Given the description of an element on the screen output the (x, y) to click on. 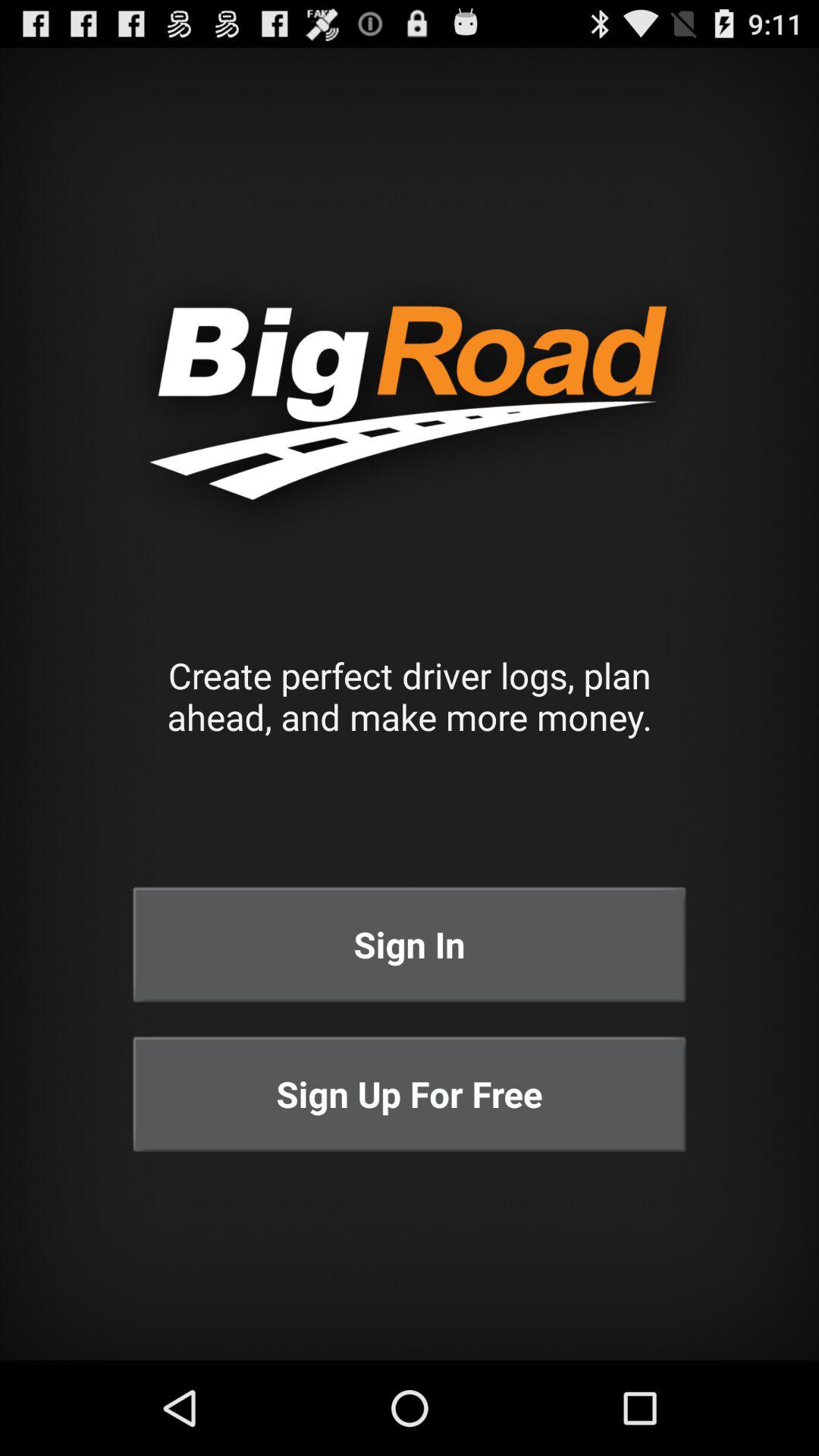
tap icon below sign in icon (409, 1093)
